Given the description of an element on the screen output the (x, y) to click on. 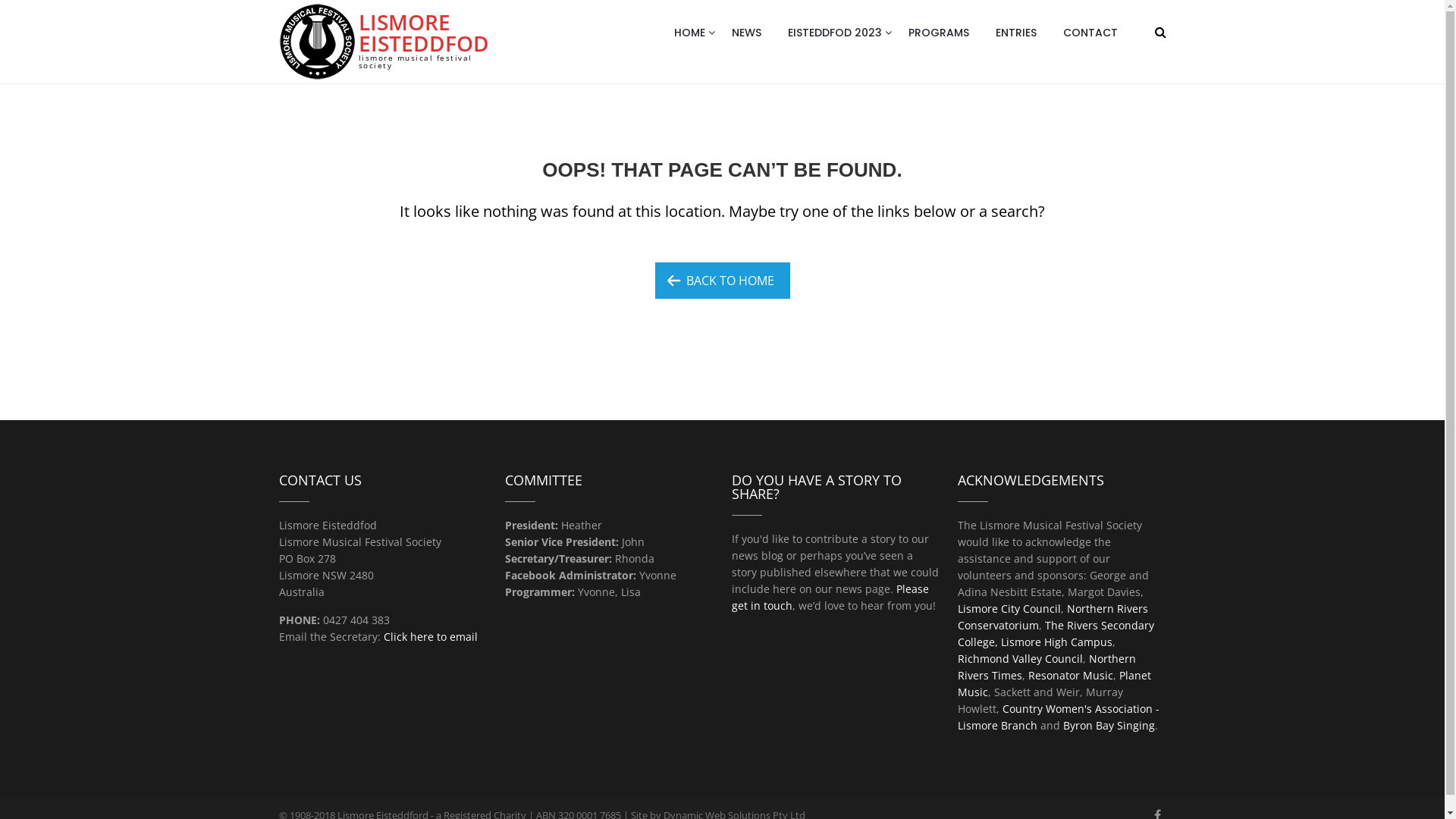
Richmond Valley Council Element type: text (1019, 658)
ENTRIES Element type: text (1023, 32)
HOME Element type: text (697, 32)
BACK TO HOME Element type: text (722, 280)
Planet Music Element type: text (1054, 683)
LISMORE EISTEDDFOD Element type: text (422, 32)
Northern Rivers Conservatorium Element type: text (1052, 616)
EISTEDDFOD 2023 Element type: text (842, 32)
The Rivers Secondary College, Lismore High Campus Element type: text (1055, 633)
CONTACT Element type: text (1098, 32)
NEWS Element type: text (754, 32)
PROGRAMS Element type: text (946, 32)
Click here to email Element type: text (430, 636)
Country Women's Association - Lismore Branch Element type: text (1058, 716)
Northern Rivers Times Element type: text (1046, 666)
Byron Bay Singing Element type: text (1108, 725)
Lismore City Council Element type: text (1008, 608)
Please get in touch Element type: text (829, 596)
Resonator Music Element type: text (1070, 675)
